Given the description of an element on the screen output the (x, y) to click on. 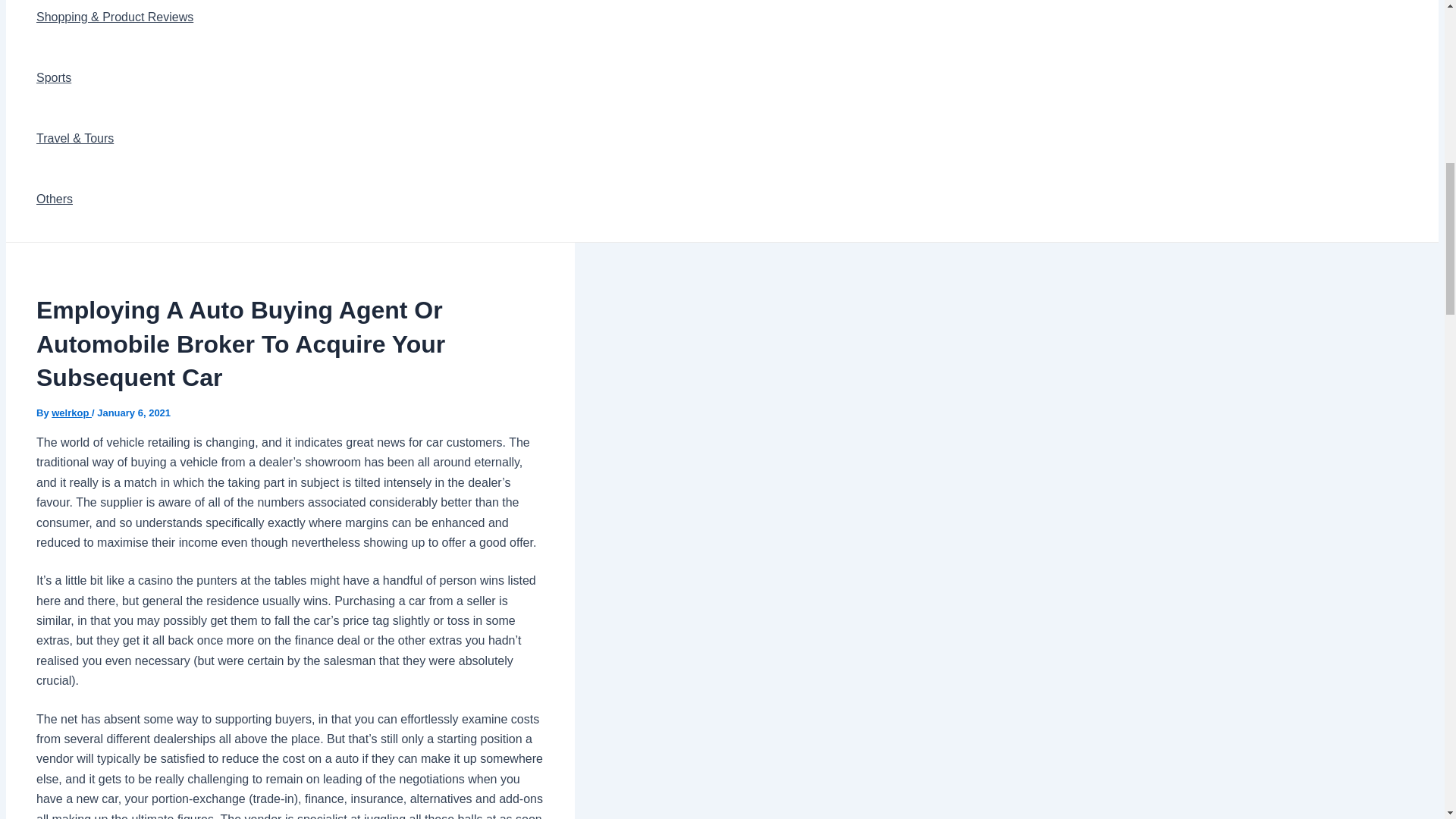
Sports (114, 77)
View all posts by welrkop (70, 412)
Others (114, 199)
welrkop (70, 412)
